Given the description of an element on the screen output the (x, y) to click on. 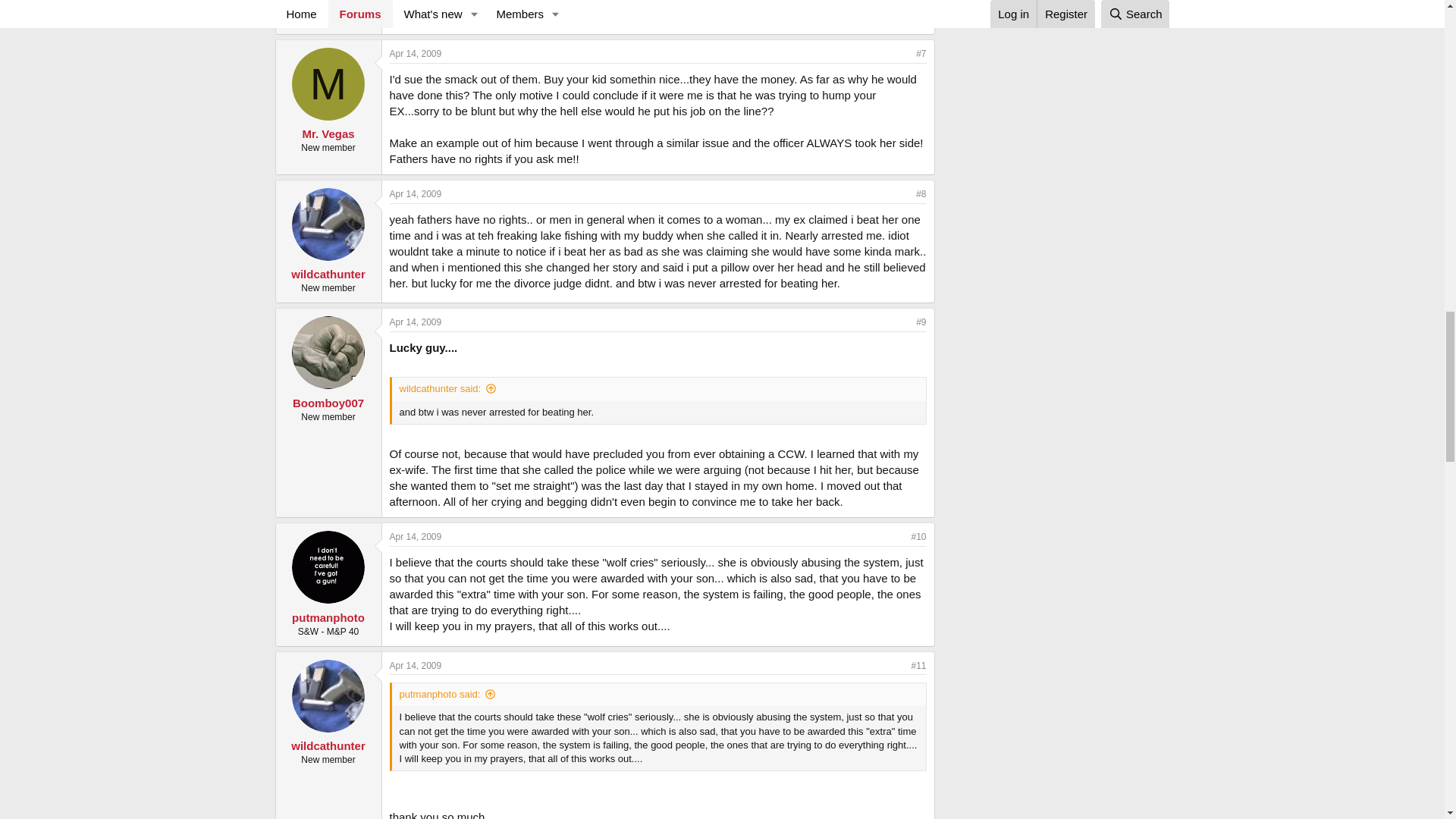
Apr 14, 2009 at 8:45 AM (416, 53)
Apr 14, 2009 at 12:26 PM (416, 665)
Apr 14, 2009 at 10:40 AM (416, 536)
Apr 14, 2009 at 10:14 AM (416, 194)
Apr 14, 2009 at 10:27 AM (416, 321)
